Given the description of an element on the screen output the (x, y) to click on. 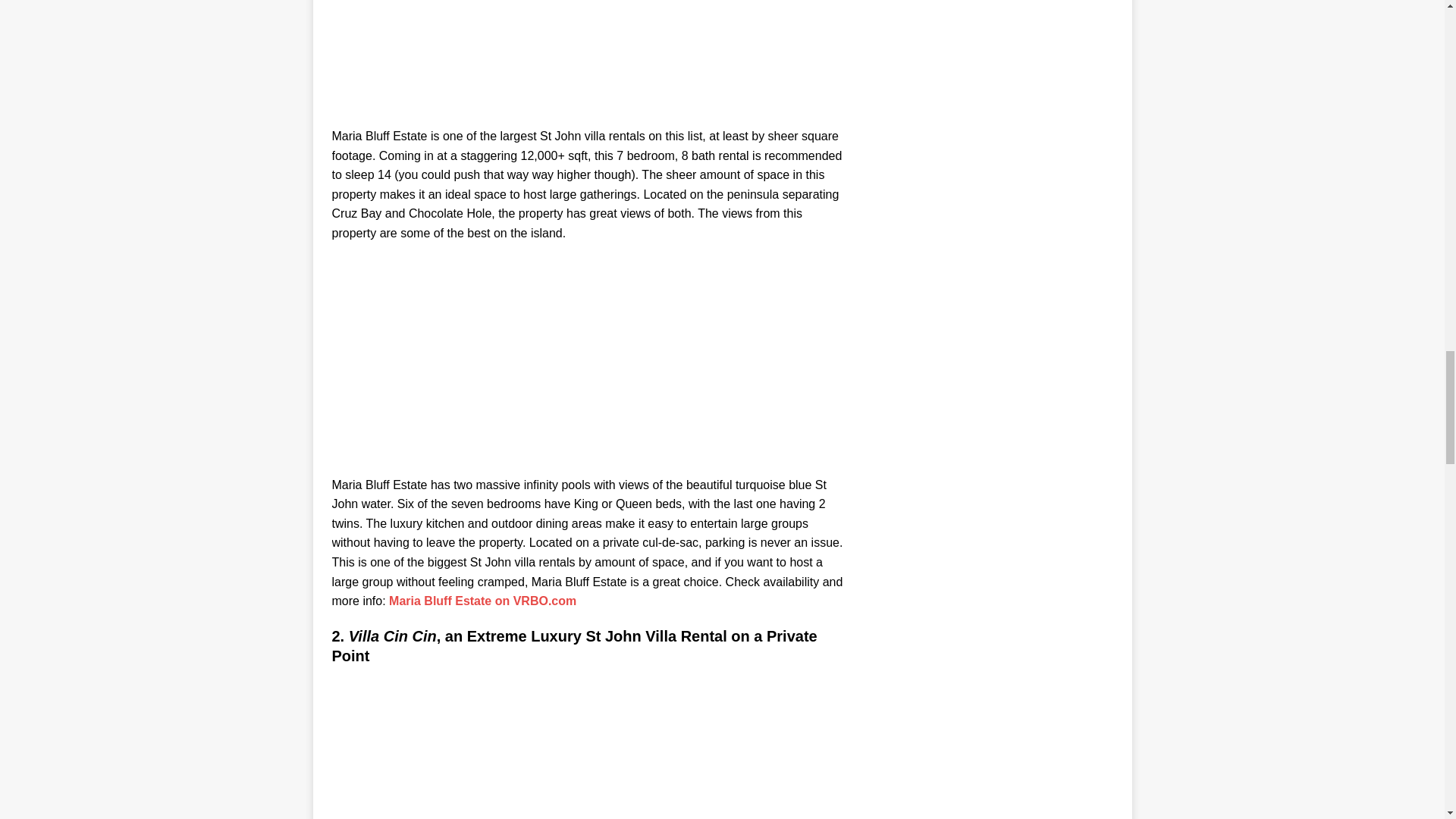
Maria Bluff Estate on VRBO.com (482, 600)
